Given the description of an element on the screen output the (x, y) to click on. 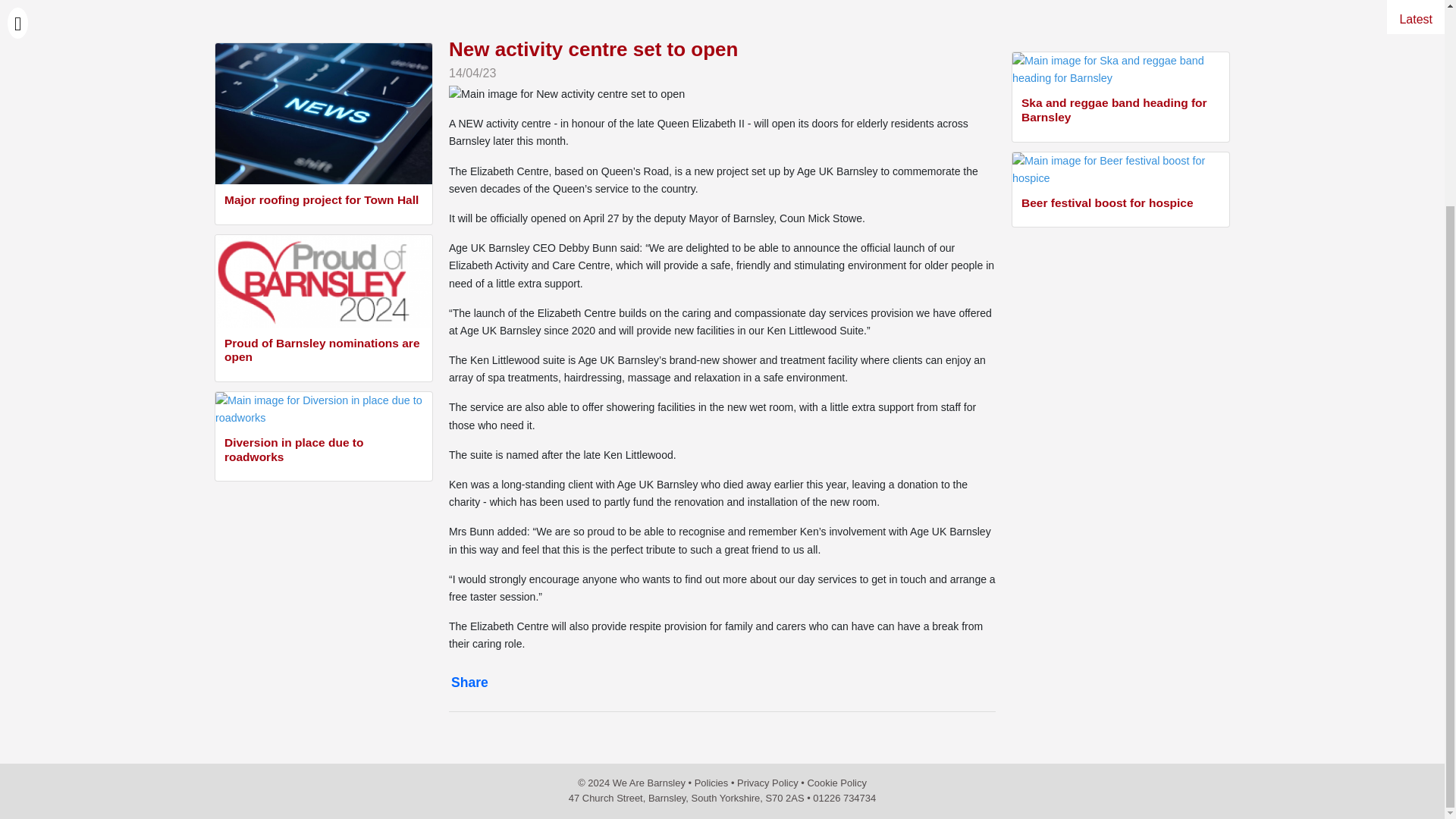
Major roofing project for Town Hall (323, 201)
Proud of Barnsley nominations are open (323, 351)
Diversion in place due to roadworks (323, 450)
Ska and reggae band heading for Barnsley (1121, 111)
